Given the description of an element on the screen output the (x, y) to click on. 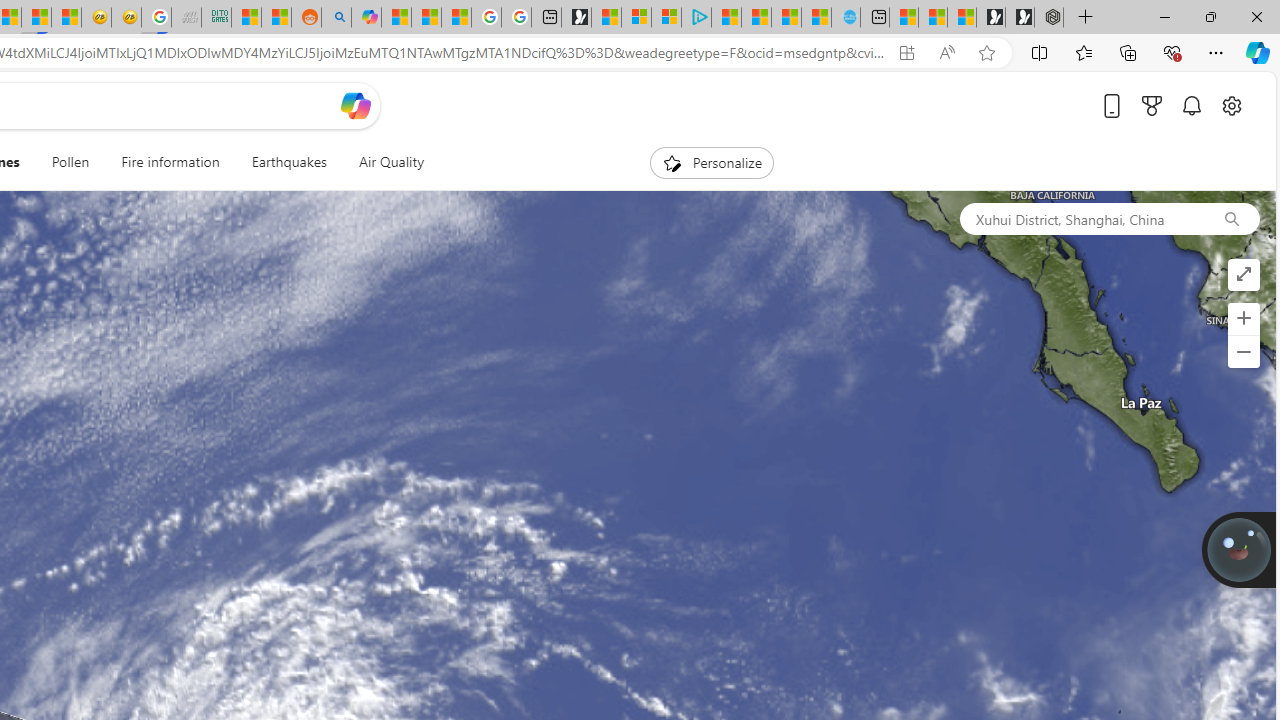
Zoom in (1243, 318)
Fire information (170, 162)
Xuhui District, Shanghai, China (1081, 218)
Earthquakes (288, 162)
